Given the description of an element on the screen output the (x, y) to click on. 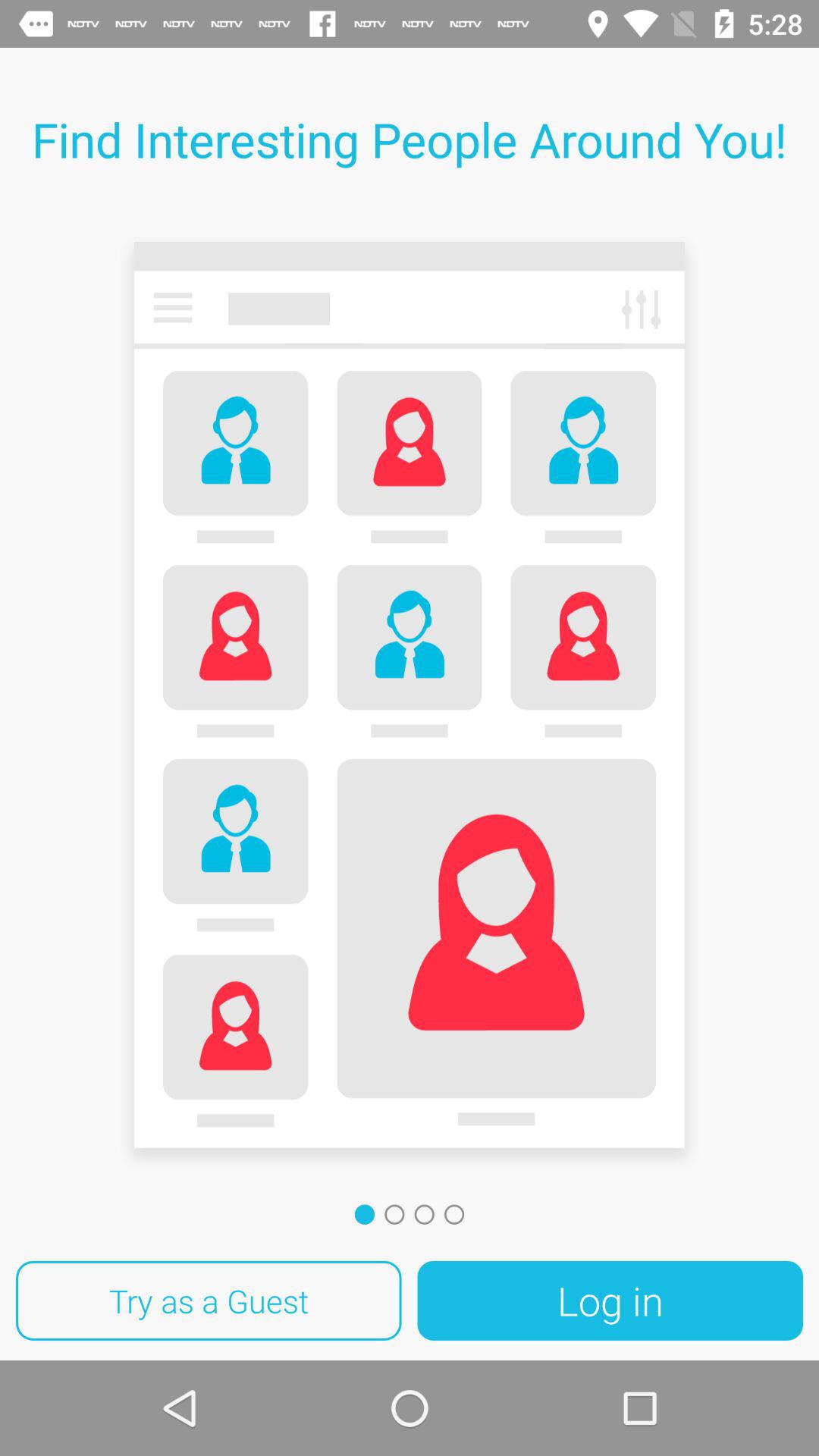
turn off the icon to the right of try as a icon (610, 1300)
